Given the description of an element on the screen output the (x, y) to click on. 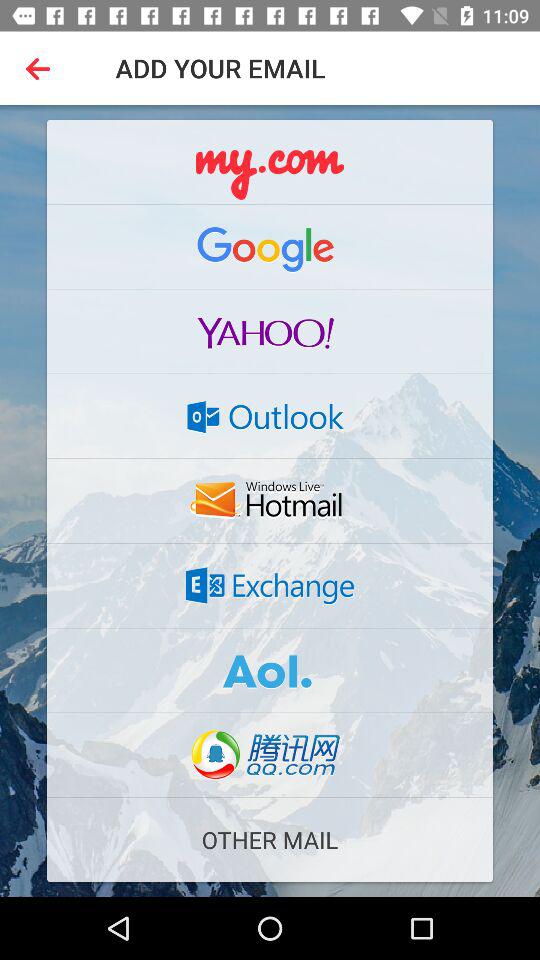
e exchange (269, 585)
